Given the description of an element on the screen output the (x, y) to click on. 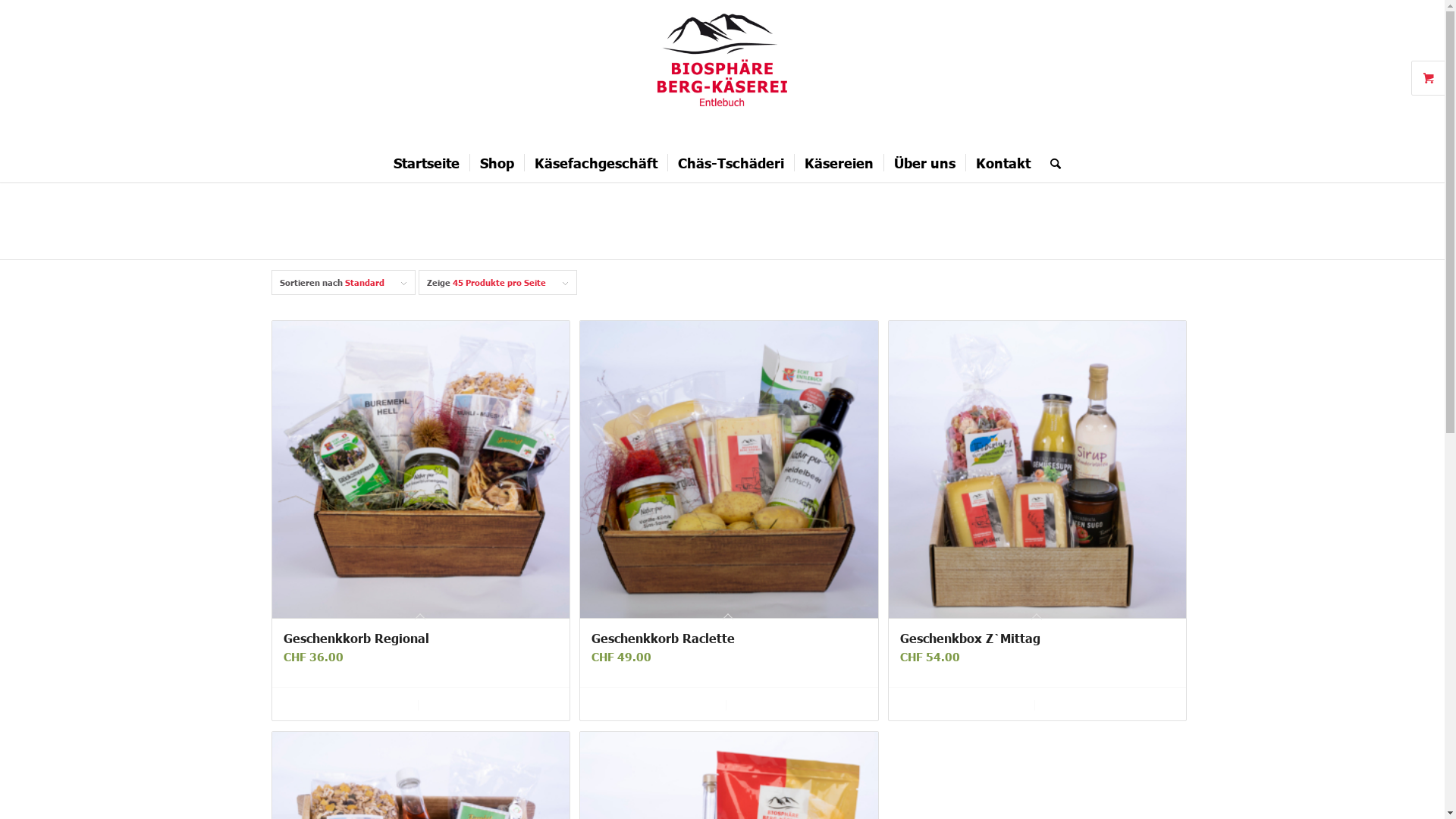
Weiterlesen Element type: text (656, 703)
Details anzeigen Element type: text (486, 703)
Details anzeigen Element type: text (1103, 703)
Weiterlesen Element type: text (348, 703)
In den Warenkorb Element type: text (965, 703)
Details anzeigen Element type: text (795, 703)
Shop Element type: text (496, 163)
